Given the description of an element on the screen output the (x, y) to click on. 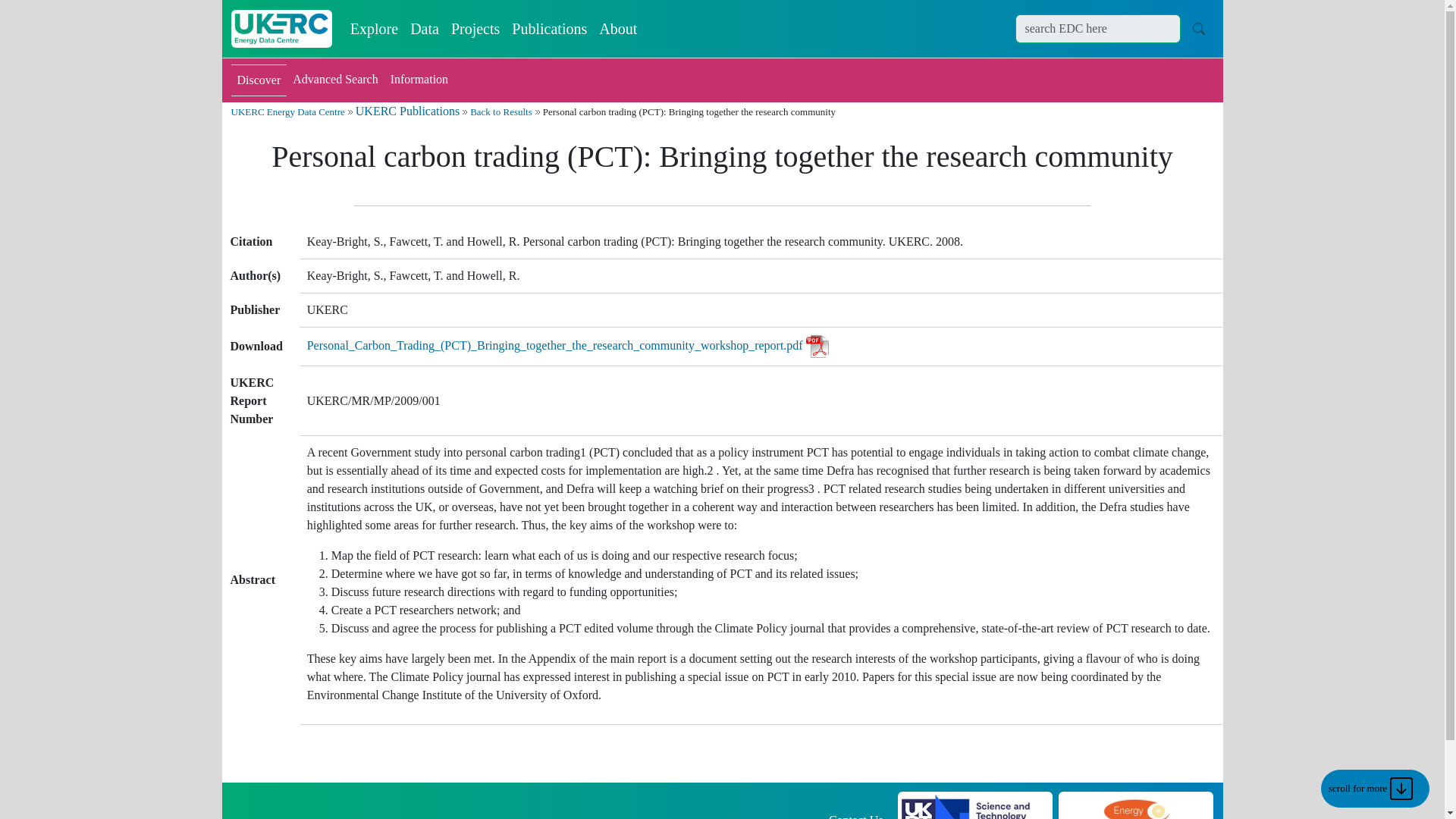
Data (424, 28)
Contact Us (855, 816)
UKERC Energy Data Centre (286, 111)
scroll for more (1374, 788)
Information (419, 80)
Explore (373, 28)
Back to Results (501, 111)
Projects (475, 28)
Advanced Search (335, 80)
About (617, 28)
Discover (258, 80)
Go (1198, 27)
Publications (548, 28)
UKERC Publications (407, 110)
